Given the description of an element on the screen output the (x, y) to click on. 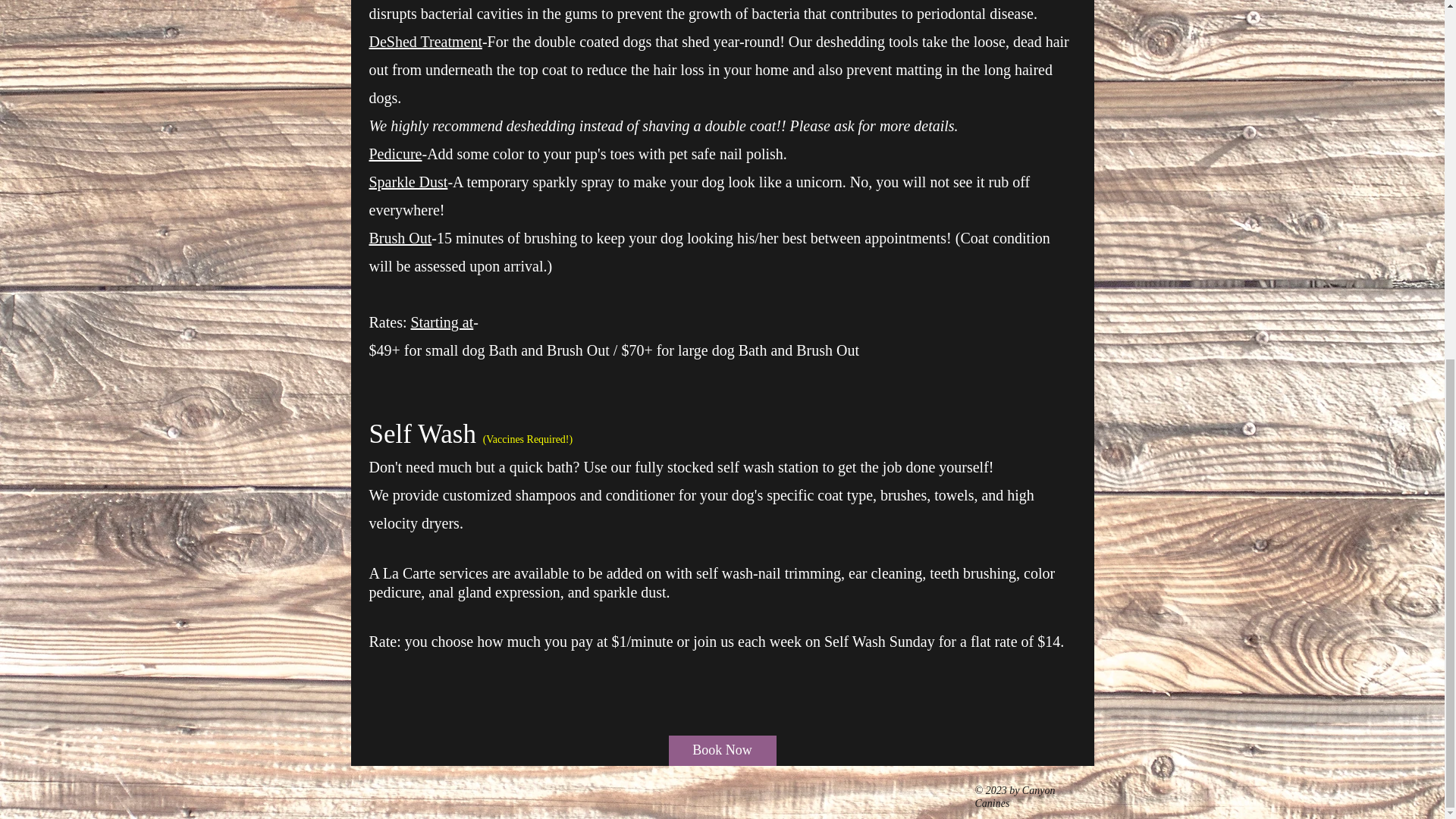
Book Now (722, 750)
